Given the description of an element on the screen output the (x, y) to click on. 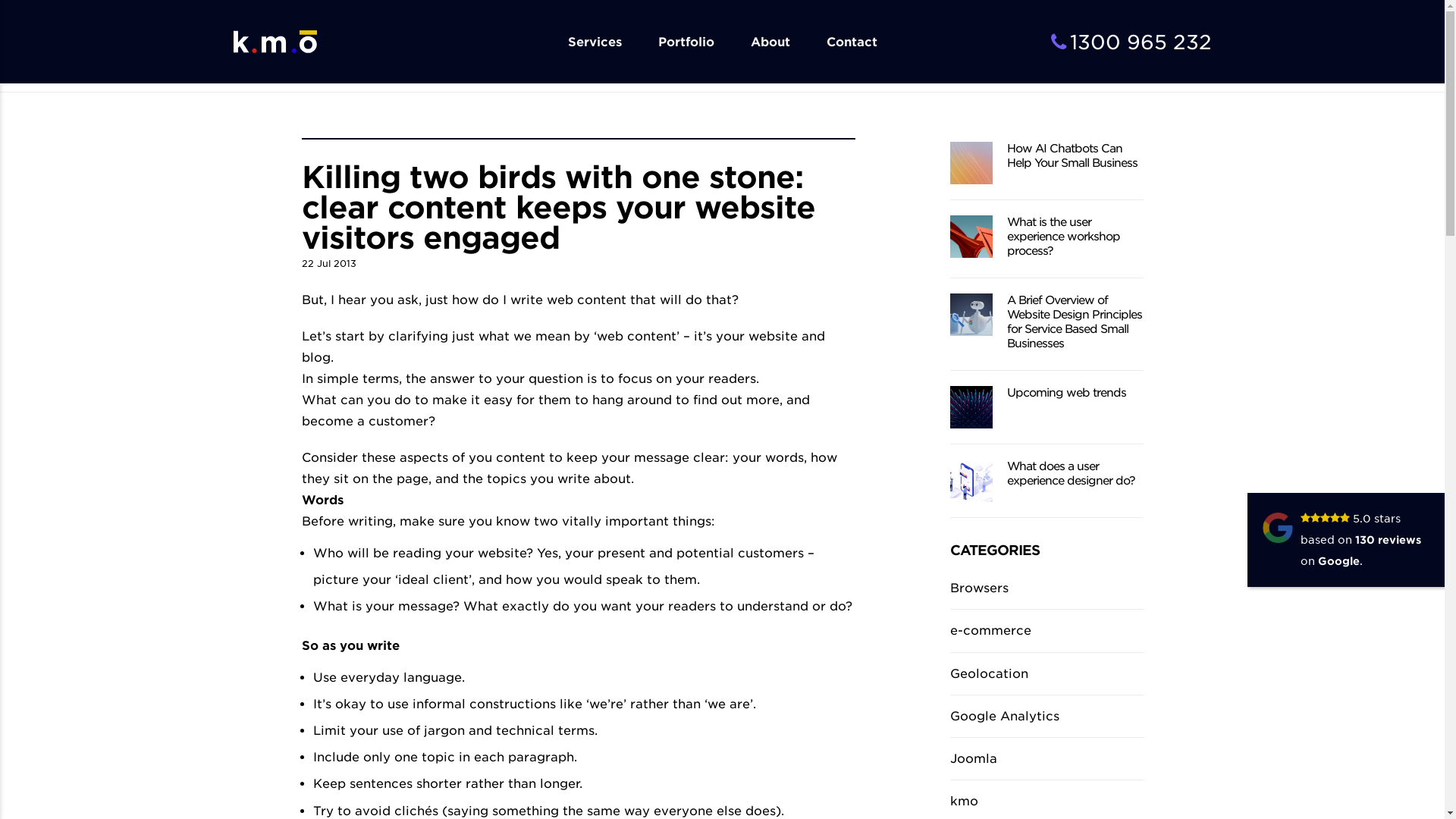
Upcoming web trends Element type: text (1066, 392)
Google Analytics Element type: text (1045, 716)
Portfolio Element type: text (686, 42)
Geolocation Element type: text (1045, 673)
1300 965 232 Element type: text (1131, 41)
About Element type: text (770, 42)
Contact Element type: text (851, 42)
Browsers Element type: text (1045, 587)
Joomla Element type: text (1045, 758)
What is the user experience workshop process? Element type: text (1063, 236)
e-commerce Element type: text (1045, 630)
5.0 stars
based on 130 reviews on Google. Element type: text (1360, 539)
What does a user experience designer do? Element type: text (1071, 473)
How AI Chatbots Can Help Your Small Business Element type: text (1072, 155)
Services Element type: text (594, 42)
